Given the description of an element on the screen output the (x, y) to click on. 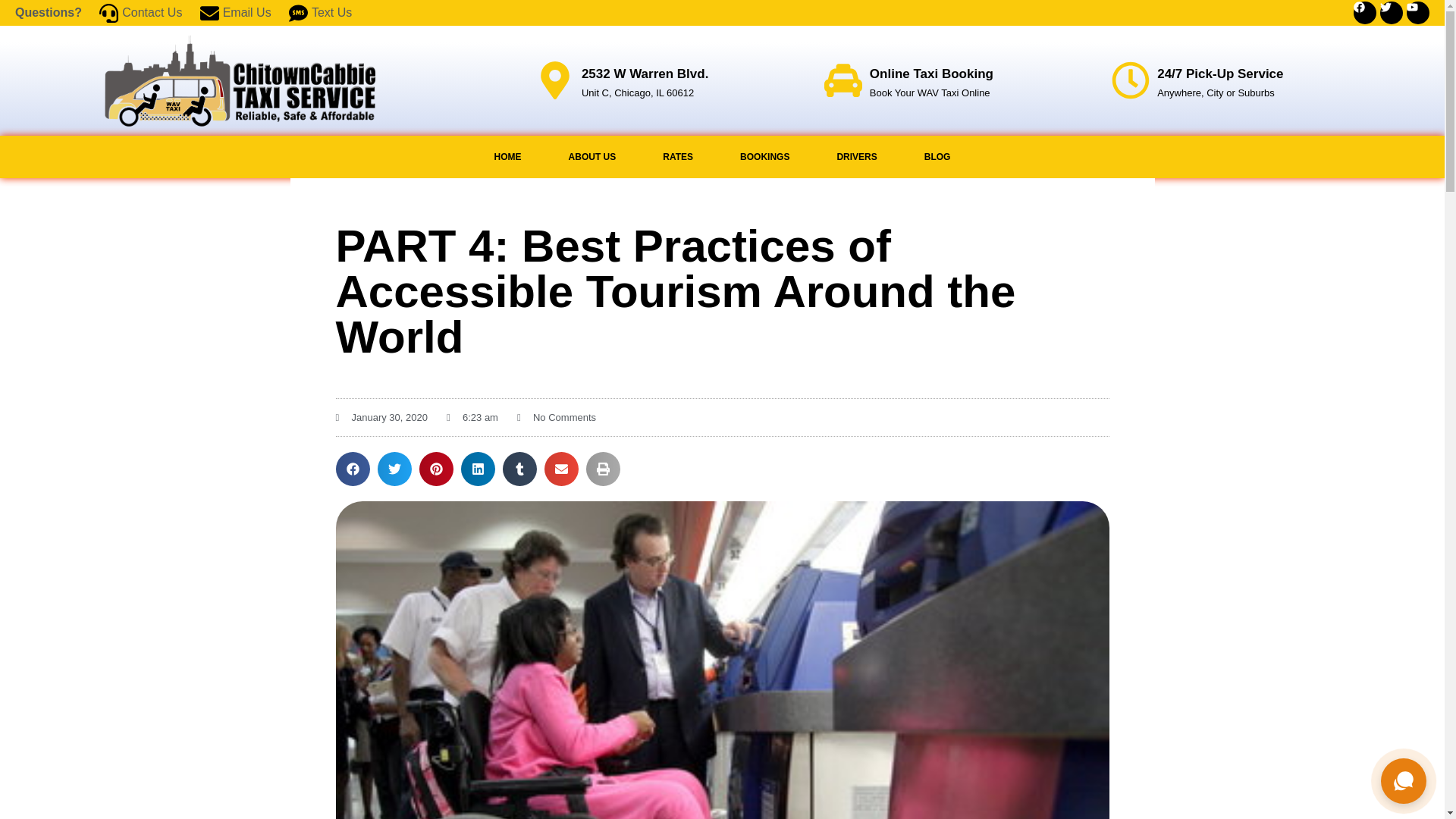
RATES (677, 156)
DRIVERS (855, 156)
BLOG (937, 156)
BOOKINGS (764, 156)
Email Us (232, 12)
No Comments (555, 417)
HOME (507, 156)
ABOUT US (592, 156)
Text Us (317, 12)
Contact Us (138, 12)
January 30, 2020 (380, 417)
